Given the description of an element on the screen output the (x, y) to click on. 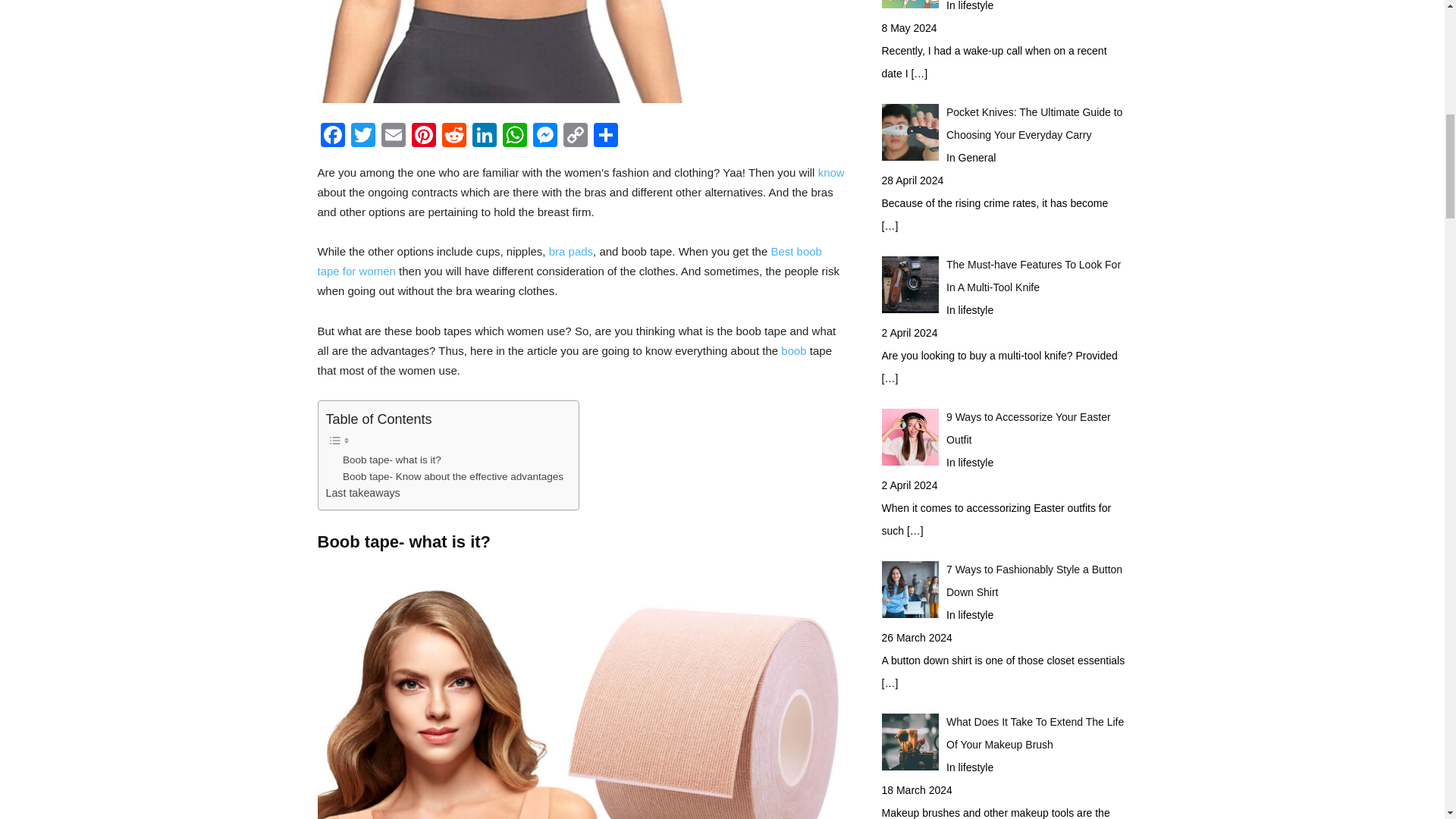
Facebook (332, 136)
Twitter (362, 136)
LinkedIn (483, 136)
Pinterest (422, 136)
Messenger (544, 136)
WhatsApp (514, 136)
Reddit (453, 136)
Email (392, 136)
image5 (580, 51)
